Given the description of an element on the screen output the (x, y) to click on. 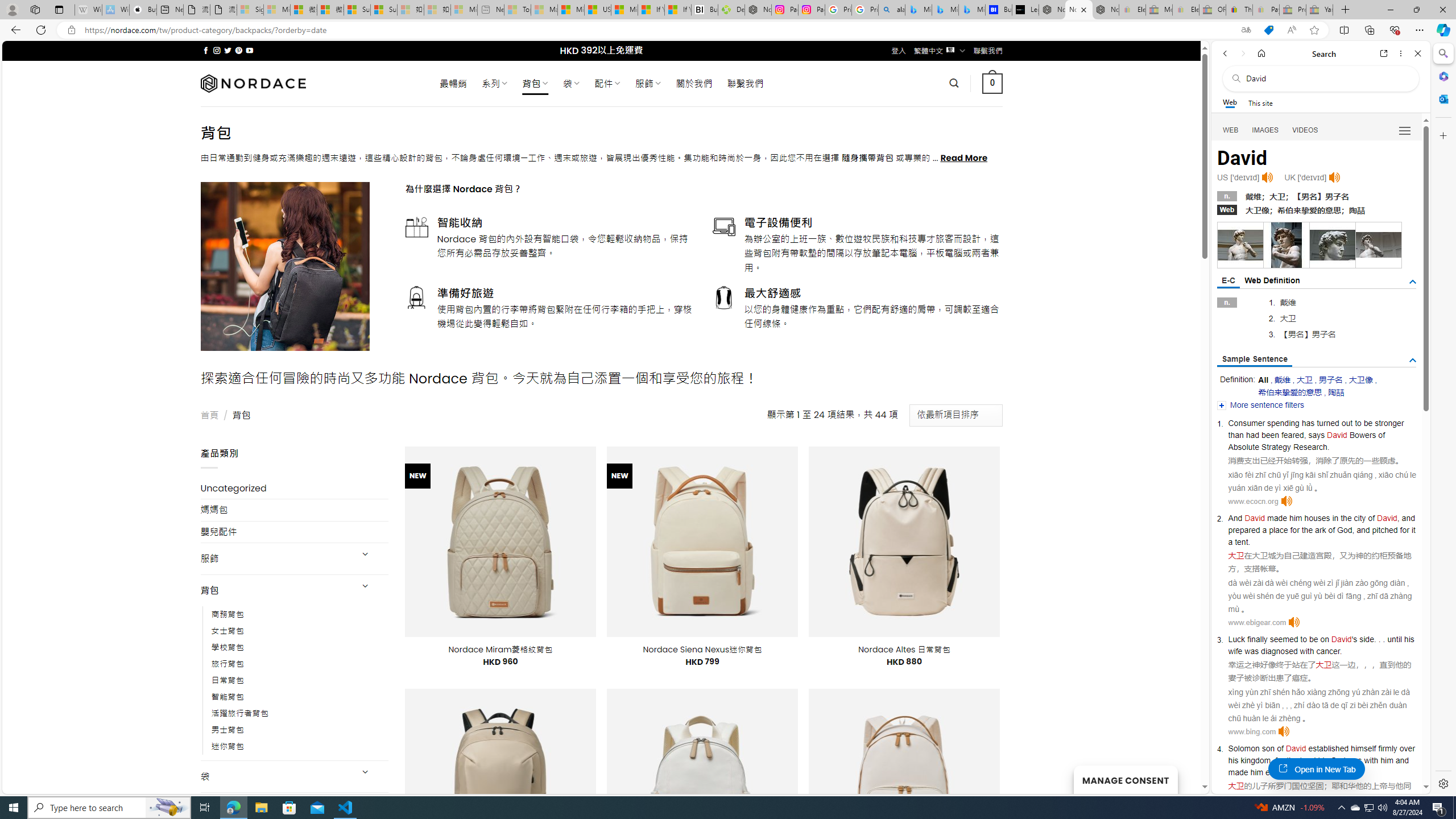
WEB (1231, 130)
pitched (1384, 529)
Search the web (1326, 78)
AutomationID: tgdef (1412, 282)
